Given the description of an element on the screen output the (x, y) to click on. 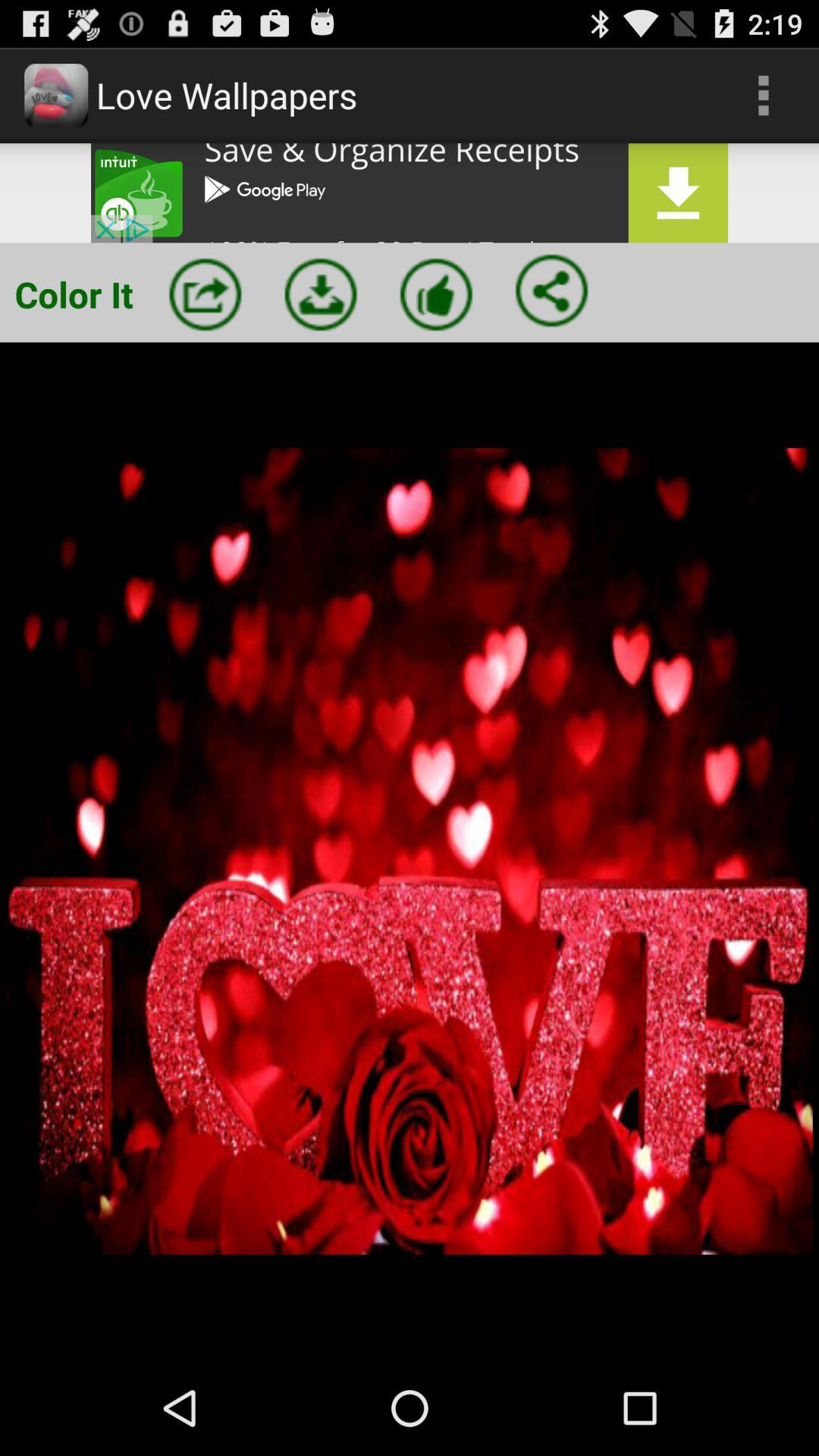
download link (409, 192)
